Given the description of an element on the screen output the (x, y) to click on. 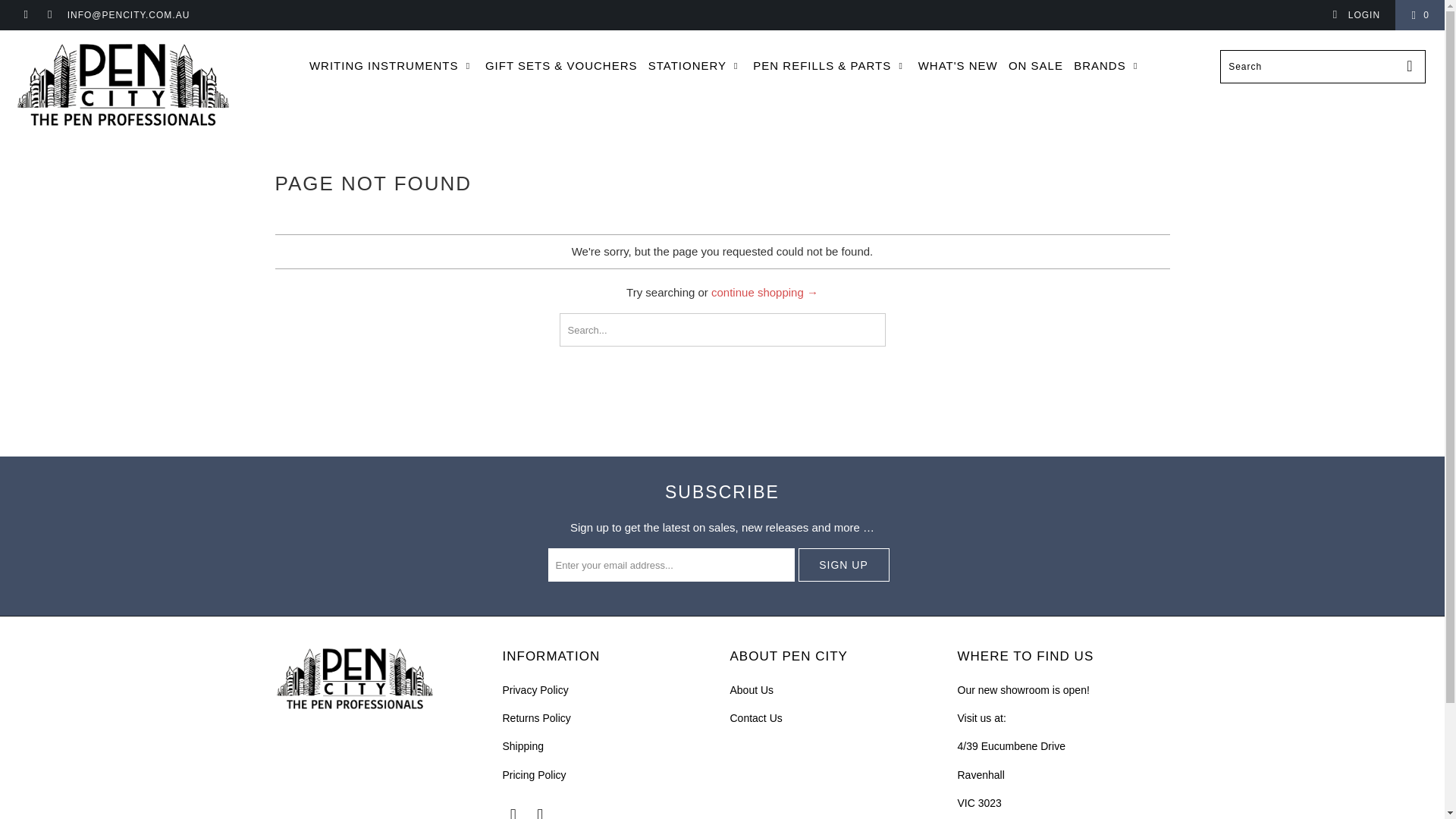
Pen City (122, 86)
Sign Up (842, 564)
Pen City on Facebook (513, 812)
My Account  (1355, 15)
Pen City on Instagram (48, 14)
Pen City on Instagram (540, 812)
Pen City on Facebook (25, 14)
